Given the description of an element on the screen output the (x, y) to click on. 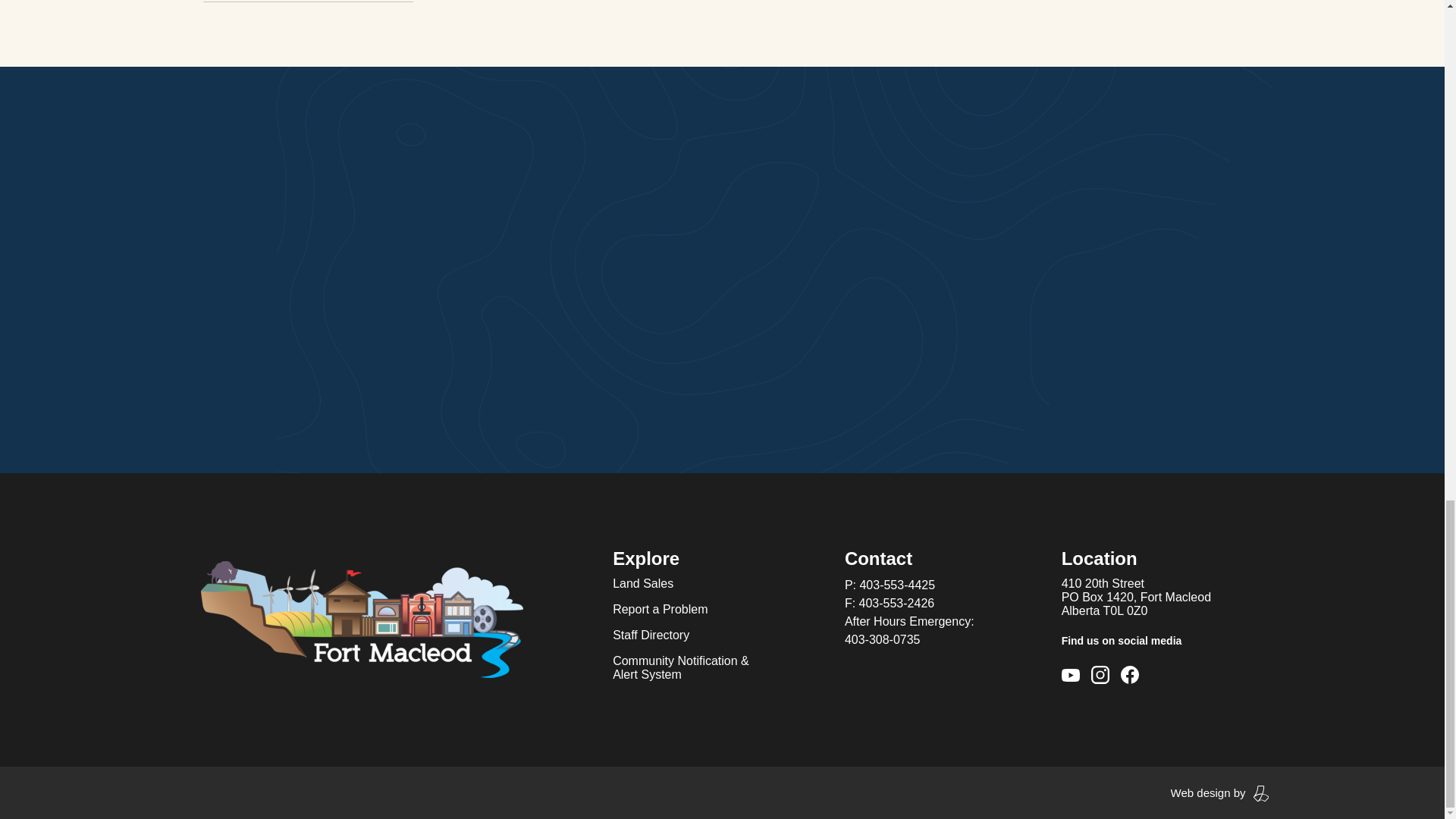
Report a Problem (659, 609)
Fort Macleod (361, 619)
Land Sales (642, 583)
